Given the description of an element on the screen output the (x, y) to click on. 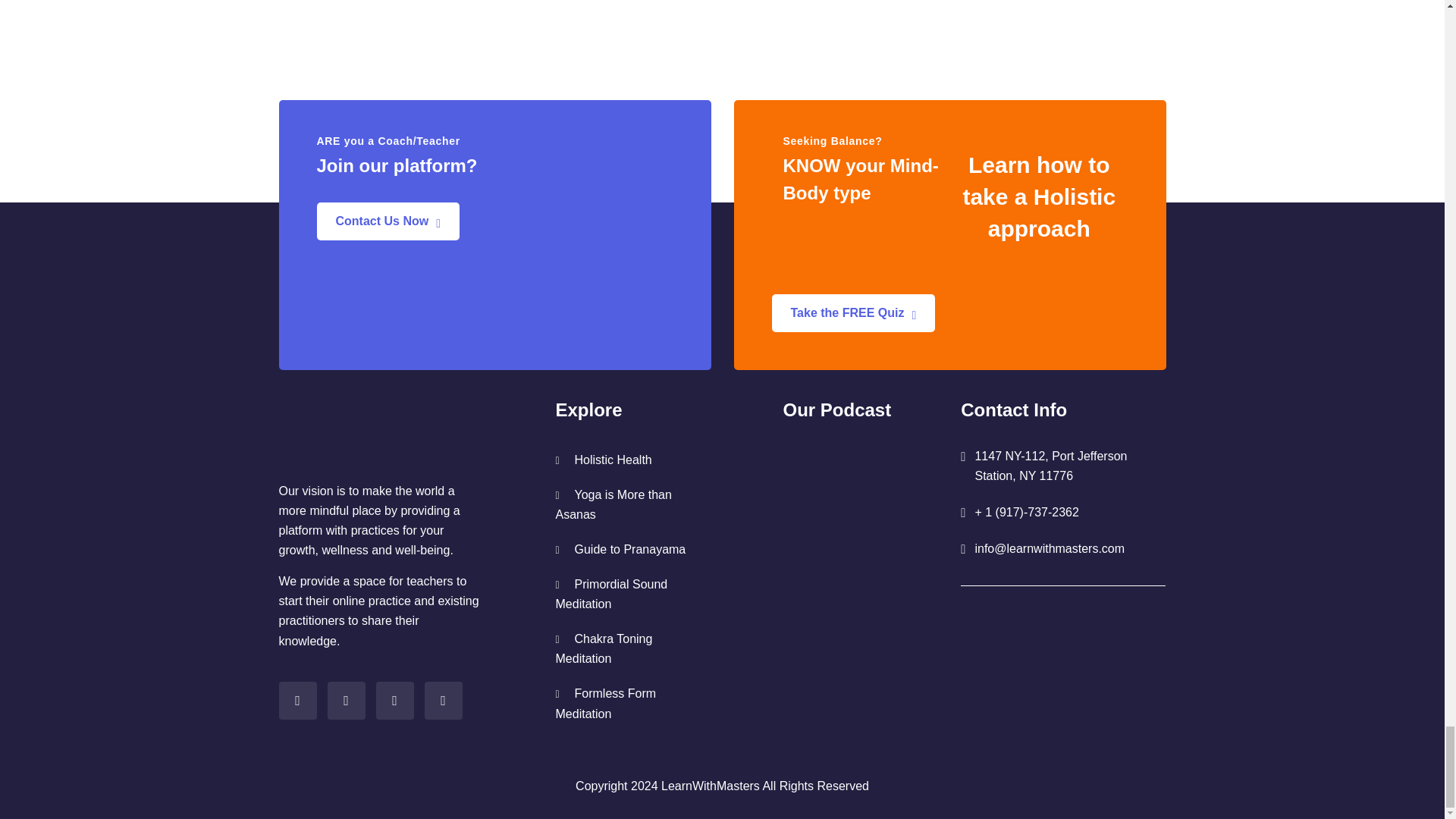
Take the FREE Quiz (853, 313)
Contact Us Now (388, 221)
